Given the description of an element on the screen output the (x, y) to click on. 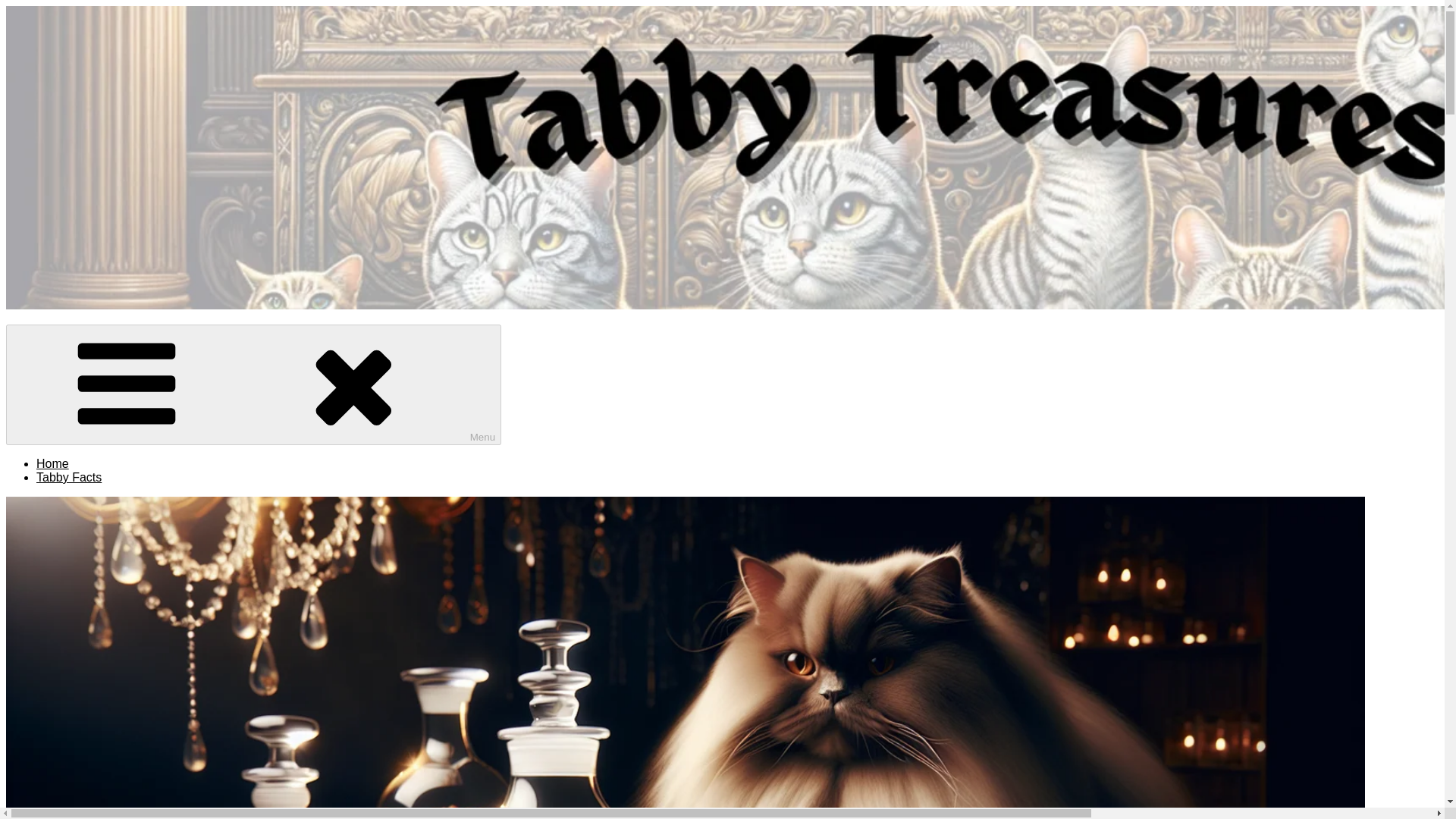
Tabby Treasures (50, 342)
Tabby Facts (68, 477)
Home (52, 463)
Menu (252, 384)
